Given the description of an element on the screen output the (x, y) to click on. 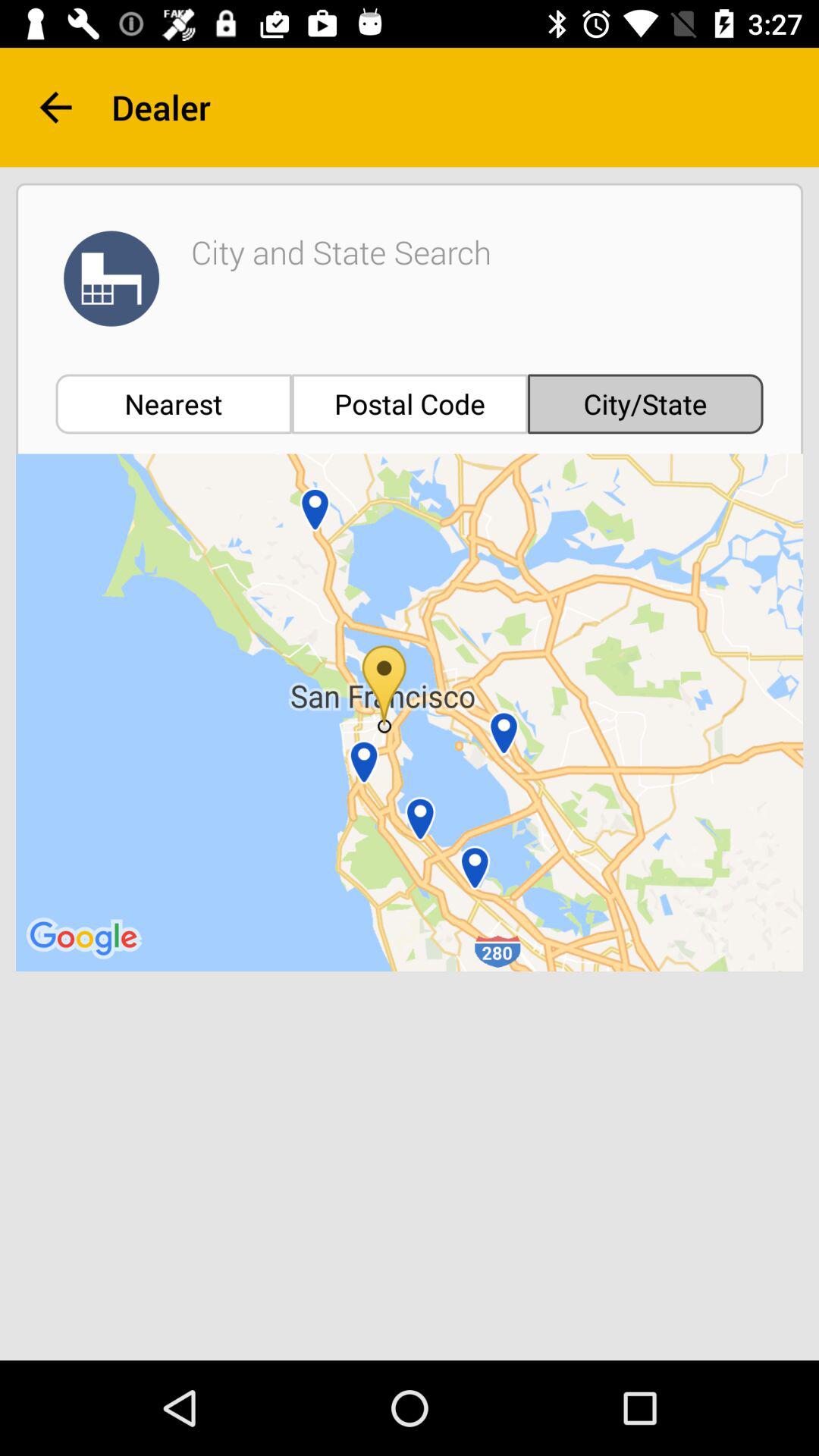
swipe until postal code item (409, 403)
